Given the description of an element on the screen output the (x, y) to click on. 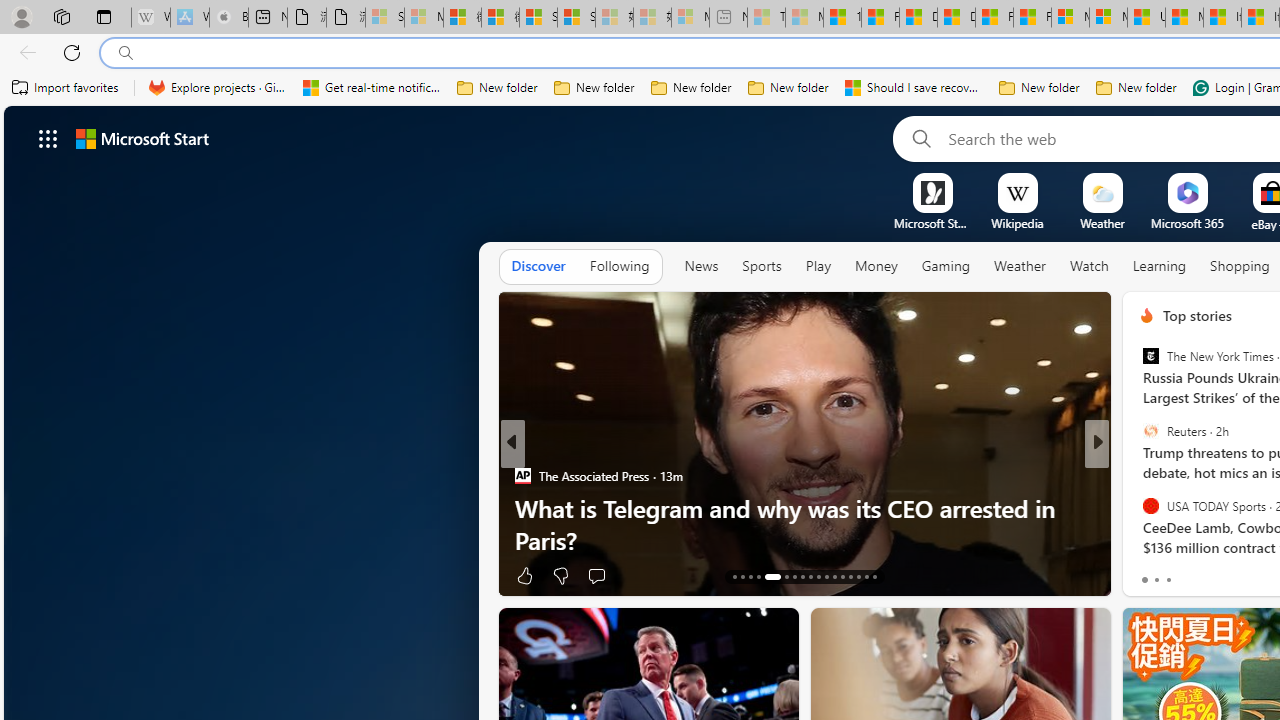
Following (619, 265)
Start the conversation (1222, 574)
View comments 66 Comment (1234, 575)
Money (875, 265)
AutomationID: tab-33 (874, 576)
View comments 1 Comment (1229, 575)
Import favorites (65, 88)
Foo BAR | Trusted Community Engagement and Contributions (1031, 17)
Food and Drink - MSN (879, 17)
Shopping (1240, 265)
AutomationID: tab-23 (825, 576)
